Given the description of an element on the screen output the (x, y) to click on. 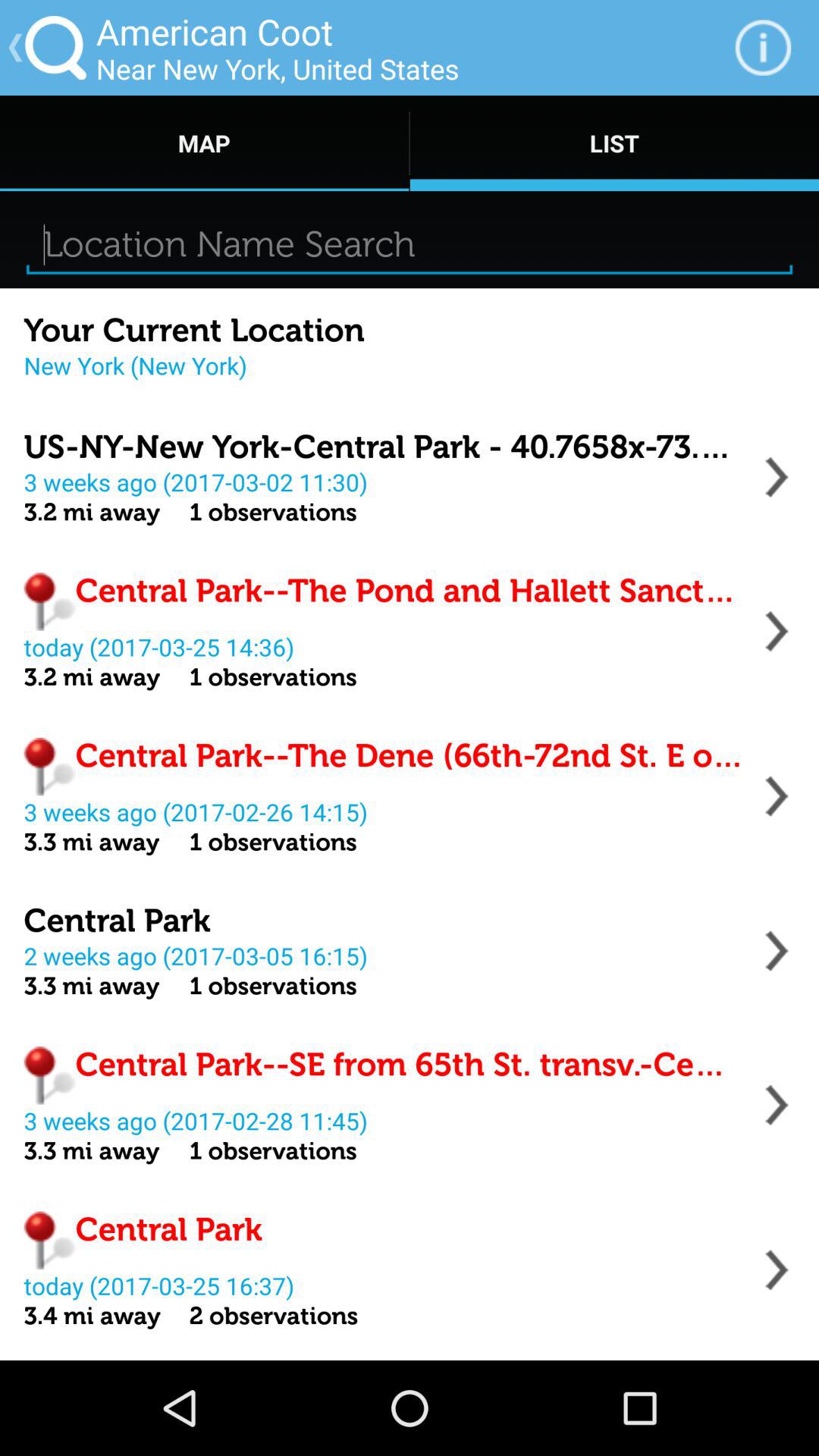
go to next (776, 631)
